Given the description of an element on the screen output the (x, y) to click on. 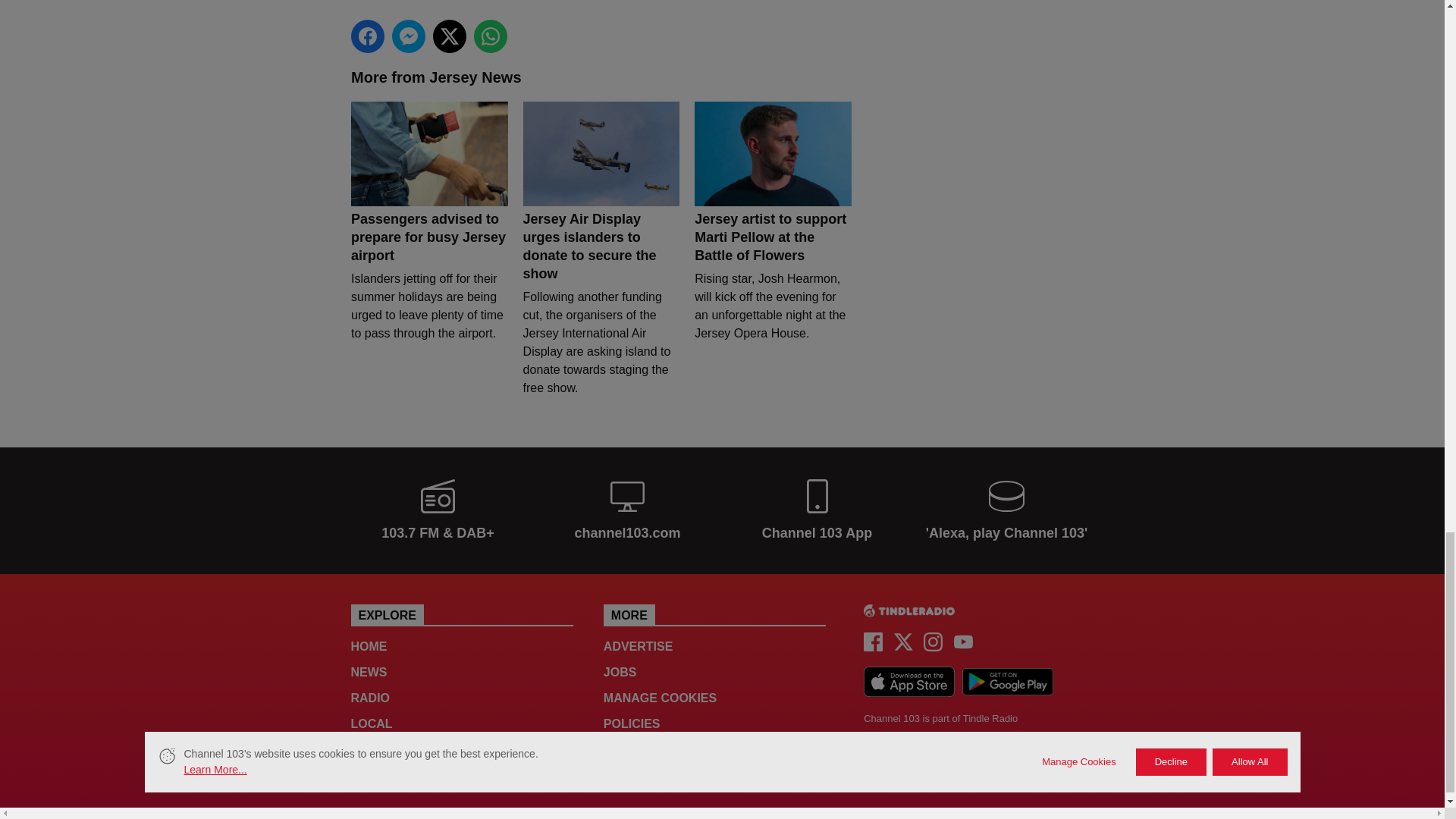
Aiir radio website CMS (882, 751)
